Given the description of an element on the screen output the (x, y) to click on. 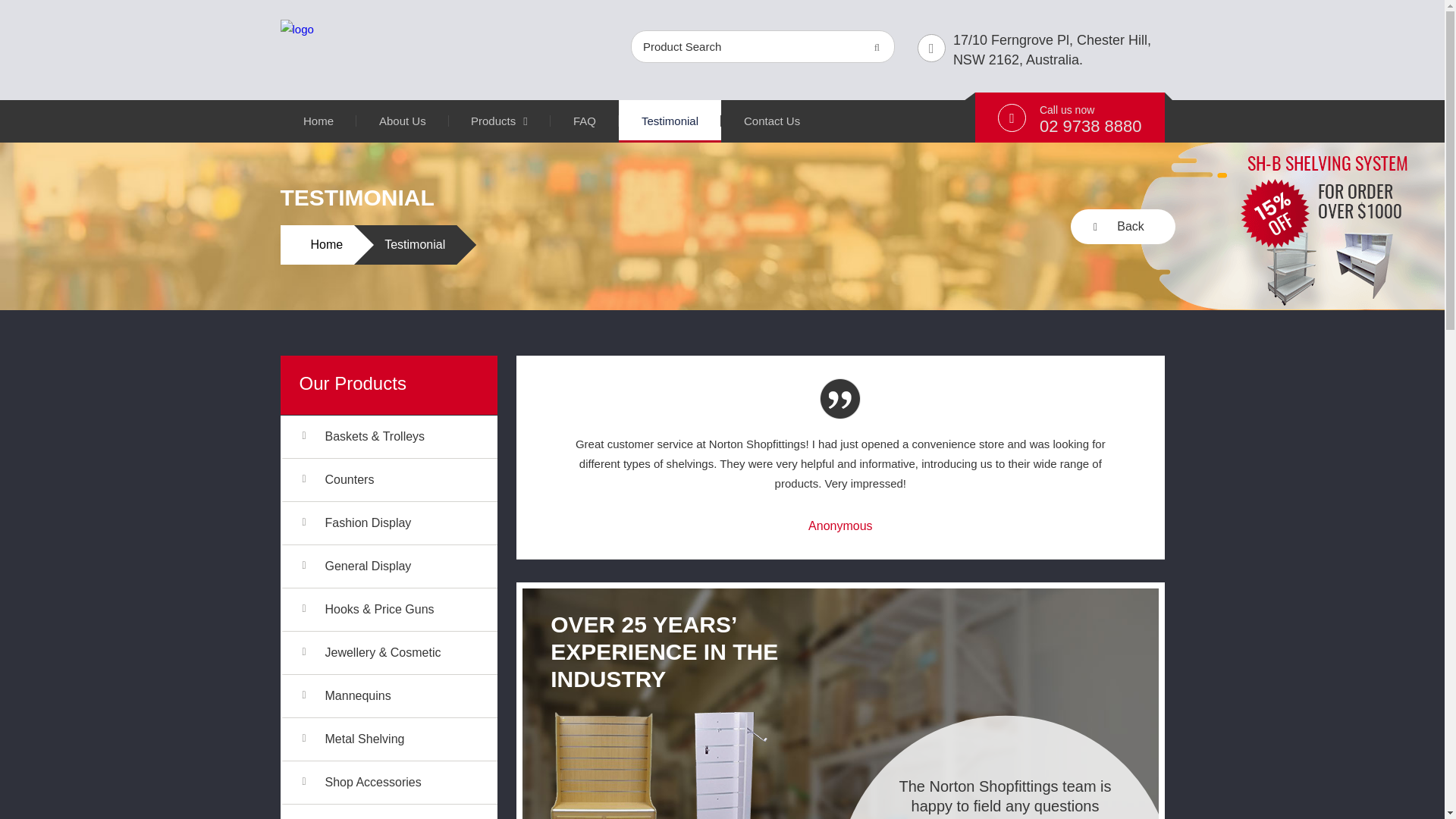
Back (1122, 226)
Counters (406, 479)
Home (318, 120)
Testimonial (669, 120)
Metal Shelving (406, 739)
Mannequins (406, 695)
About Us (402, 120)
Products (499, 120)
Fashion Display (406, 523)
Home (327, 244)
Shop Accessories (406, 782)
FAQ (584, 120)
General Display (406, 566)
Contact Us (771, 120)
